Given the description of an element on the screen output the (x, y) to click on. 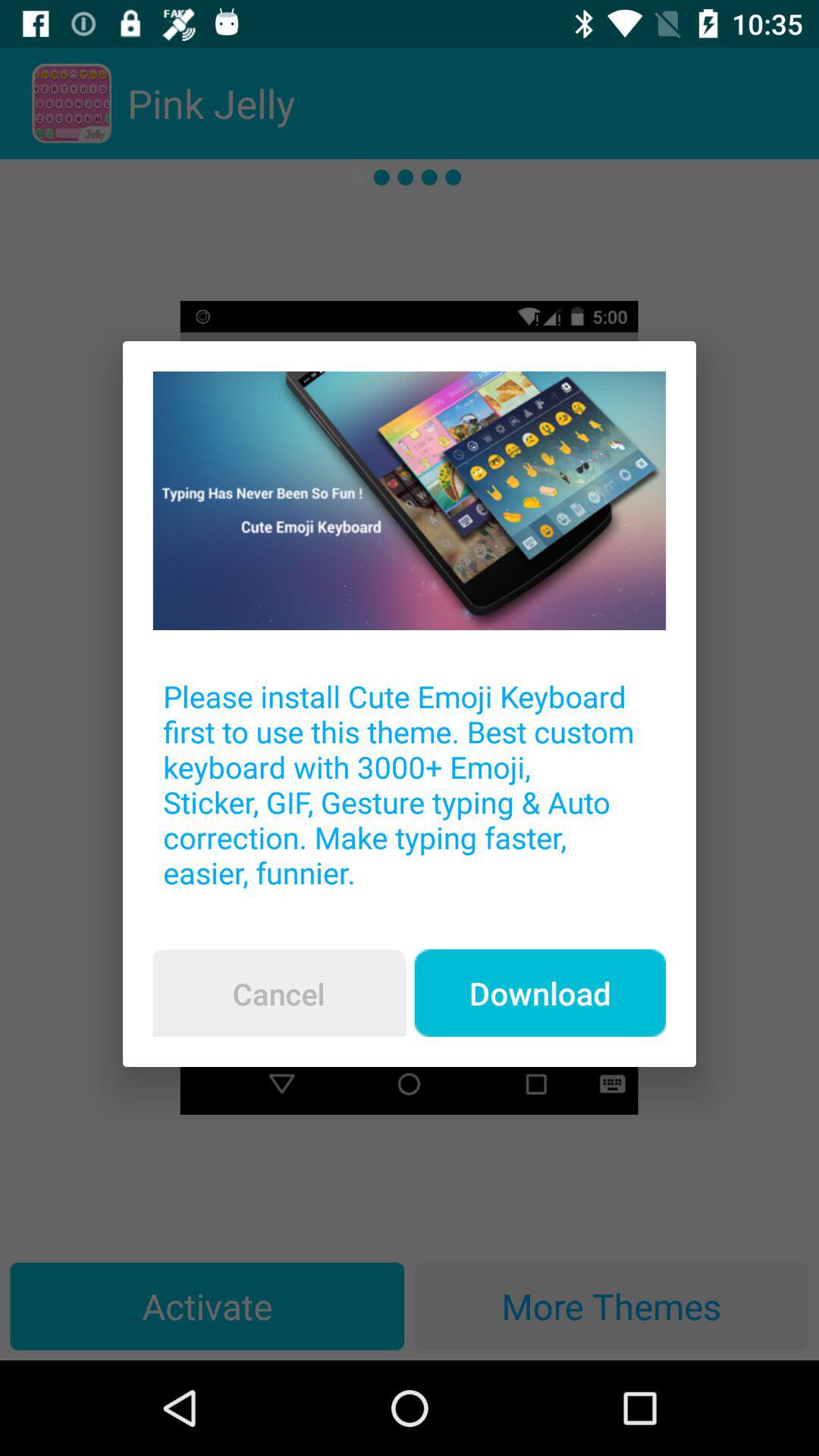
swipe to download item (540, 992)
